Given the description of an element on the screen output the (x, y) to click on. 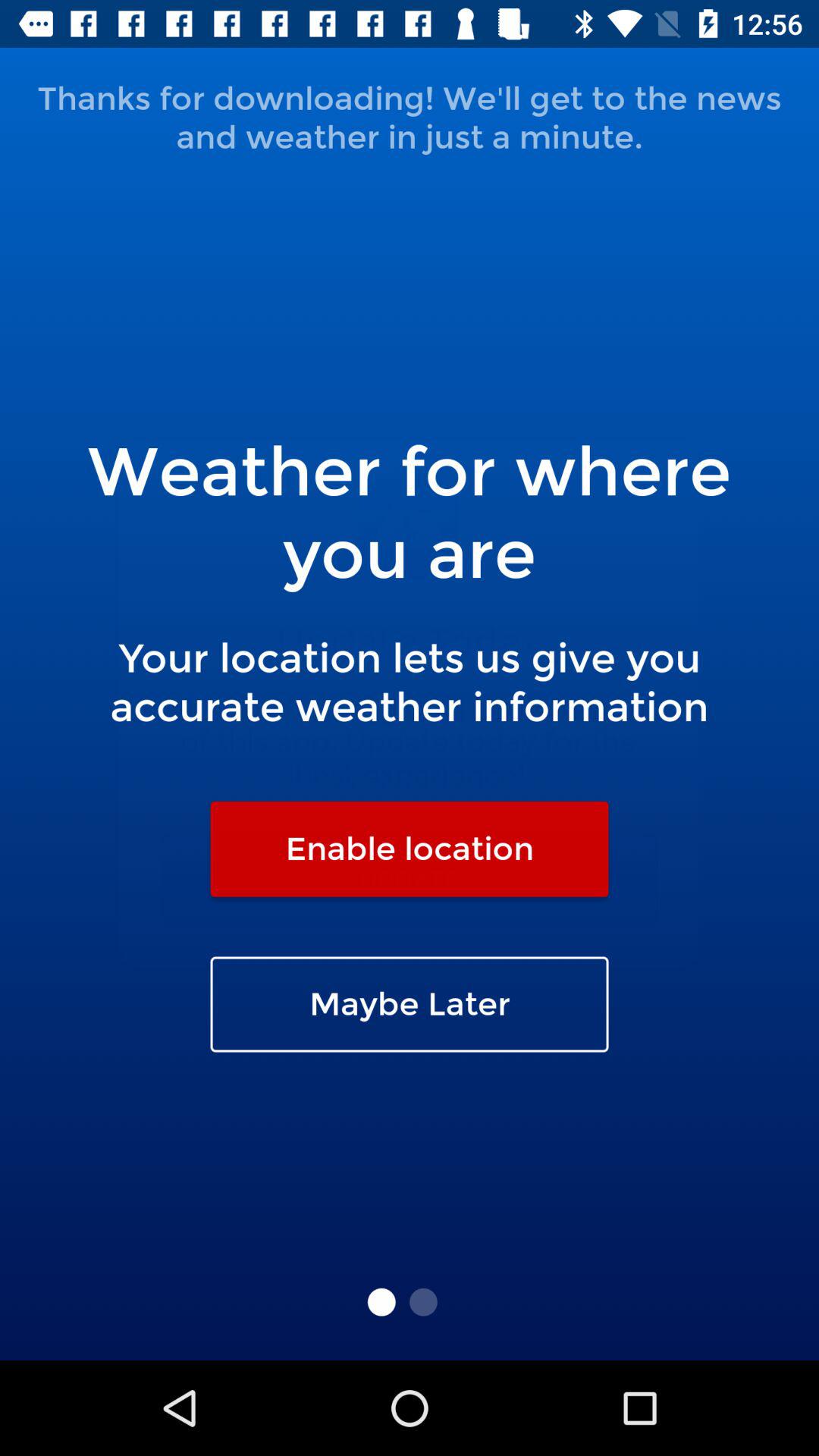
flip until maybe later icon (409, 1004)
